Given the description of an element on the screen output the (x, y) to click on. 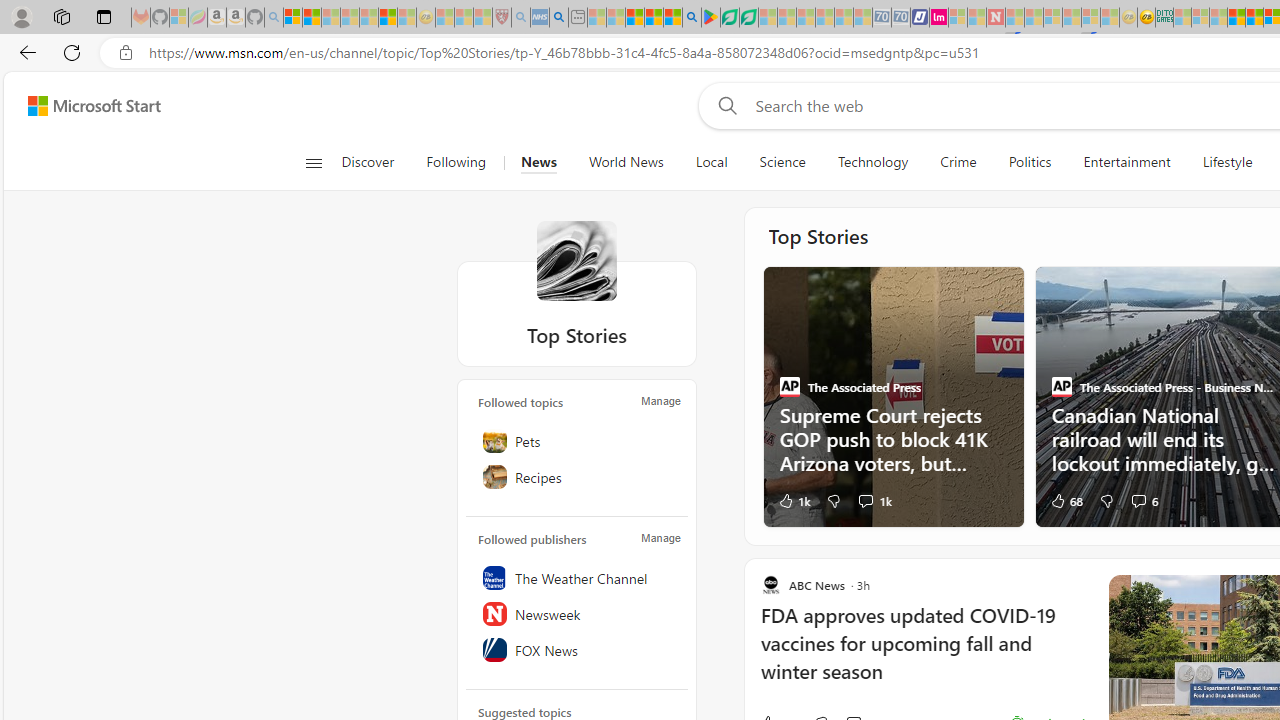
View comments 6 Comment (1144, 500)
Pets - MSN (654, 17)
The Weather Channel (577, 577)
Newsweek (577, 613)
1k Like (793, 500)
